Given the description of an element on the screen output the (x, y) to click on. 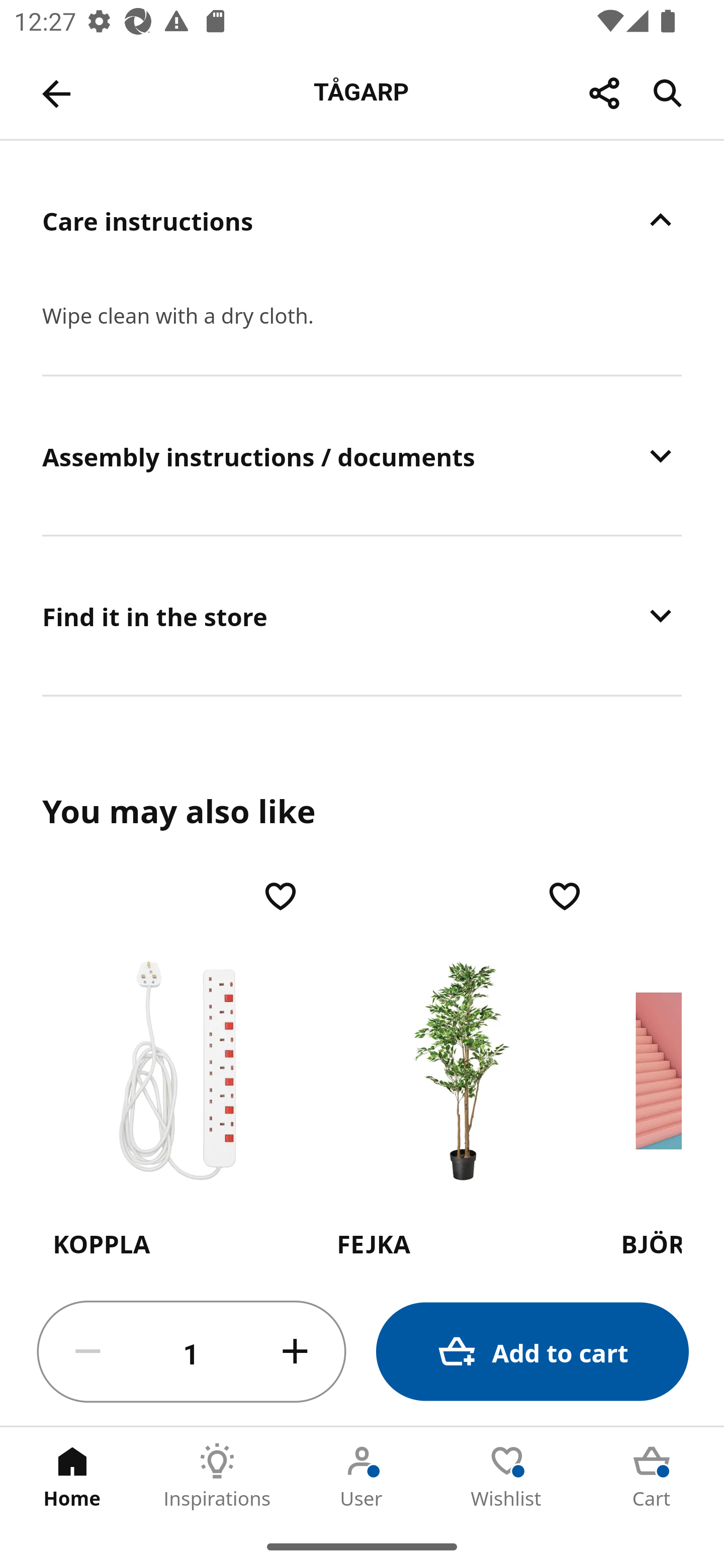
Care instructions (361, 219)
Assembly instructions / documents (361, 455)
Find it in the store (361, 615)
Add to cart (531, 1352)
1 (191, 1352)
Home
Tab 1 of 5 (72, 1476)
Inspirations
Tab 2 of 5 (216, 1476)
User
Tab 3 of 5 (361, 1476)
Wishlist
Tab 4 of 5 (506, 1476)
Cart
Tab 5 of 5 (651, 1476)
